Given the description of an element on the screen output the (x, y) to click on. 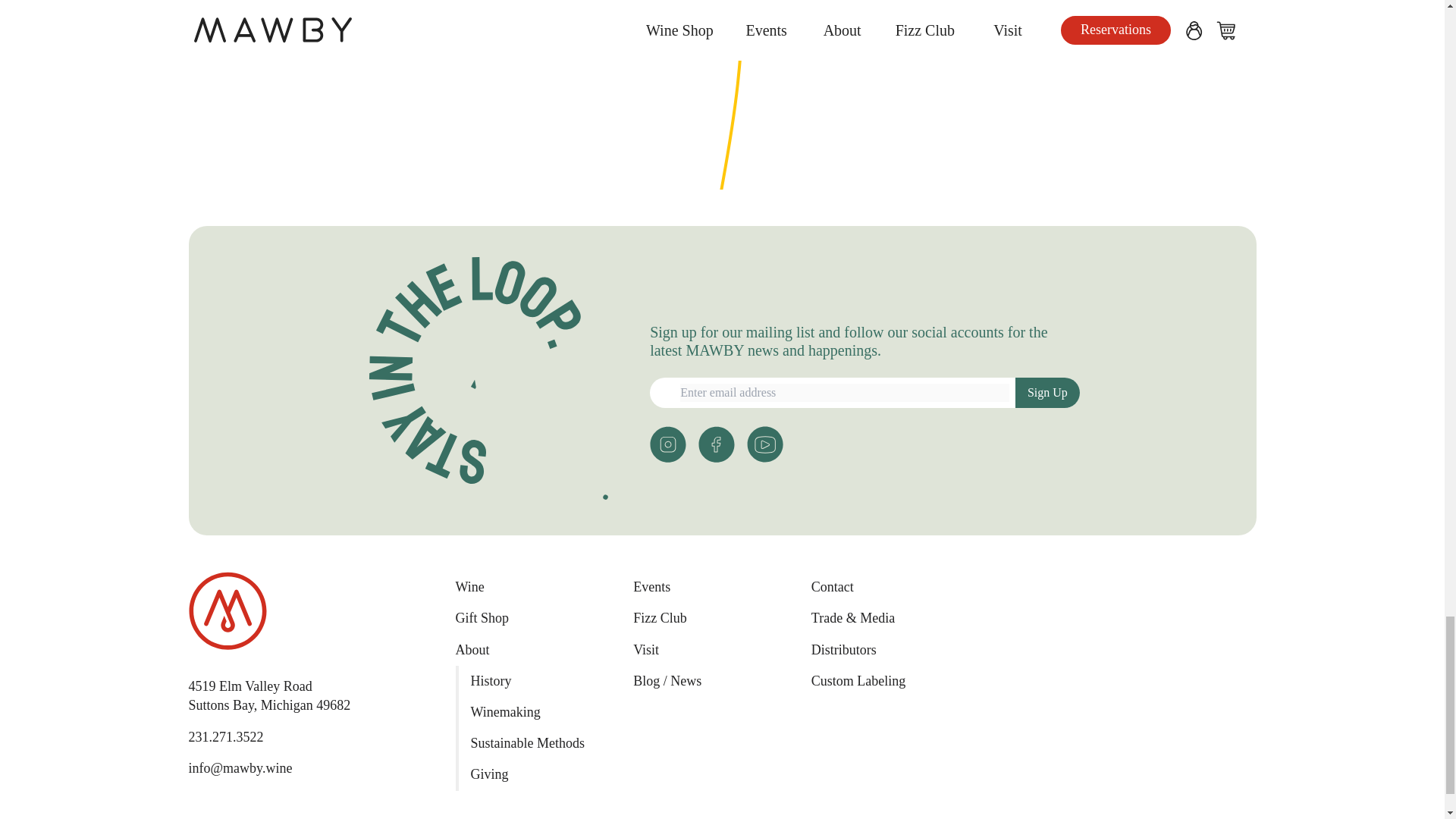
Login to your account (764, 443)
Show Google Maps Location (268, 695)
Login to your account (716, 443)
Login to your account (667, 443)
Sign Up (1047, 392)
Sign Up (1047, 392)
231.271.3522 (268, 695)
